Given the description of an element on the screen output the (x, y) to click on. 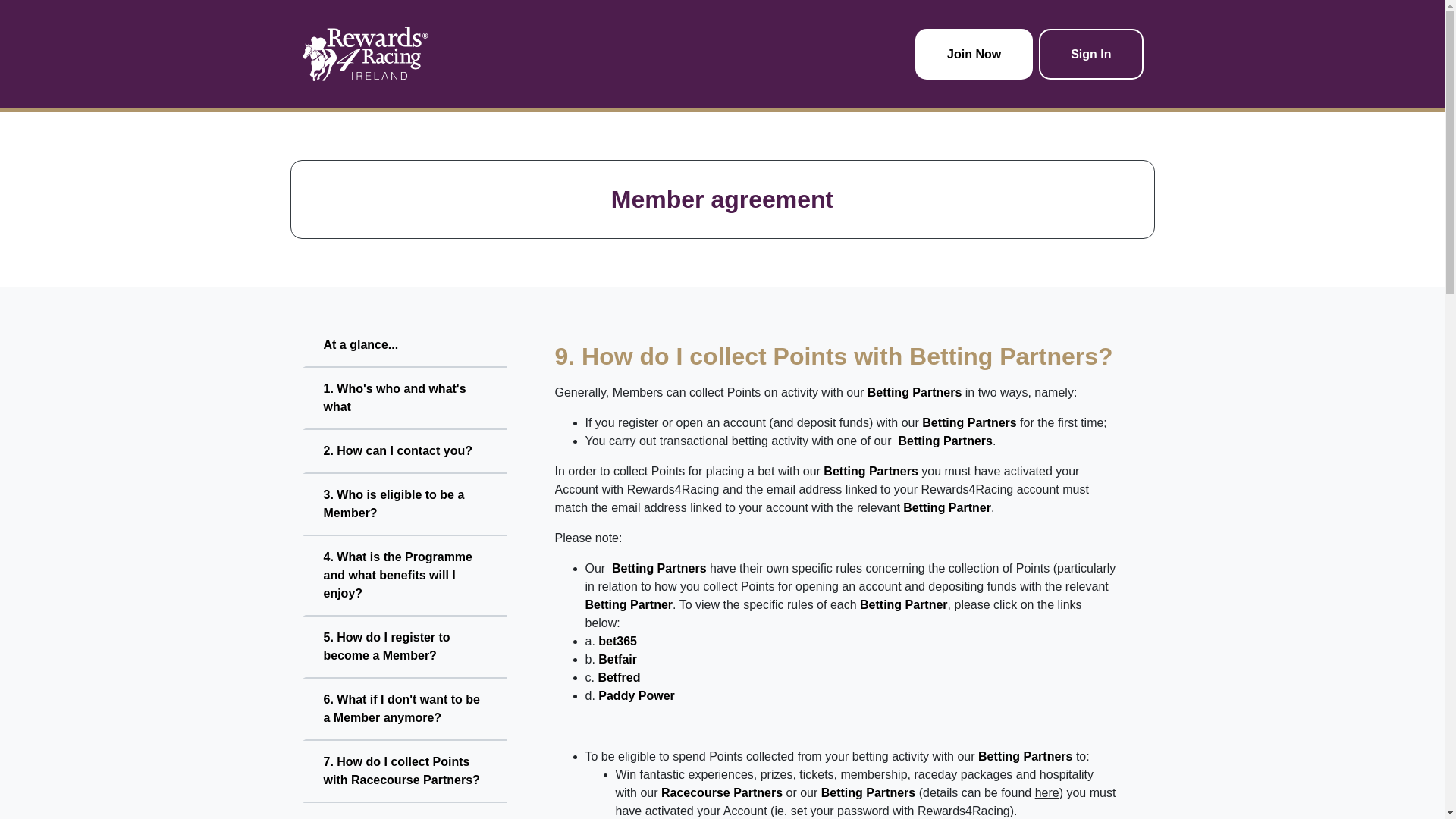
Betting Partners (870, 471)
At a glance... (403, 345)
Betting Partners (968, 422)
Betting Partner (946, 507)
2. How can I contact you? (403, 451)
Betting Partner (628, 604)
Betting Partners (913, 391)
1. Who's who and what's what (403, 398)
Betting Partners (944, 440)
6. What if I don't want to be a Member anymore? (403, 709)
